Given the description of an element on the screen output the (x, y) to click on. 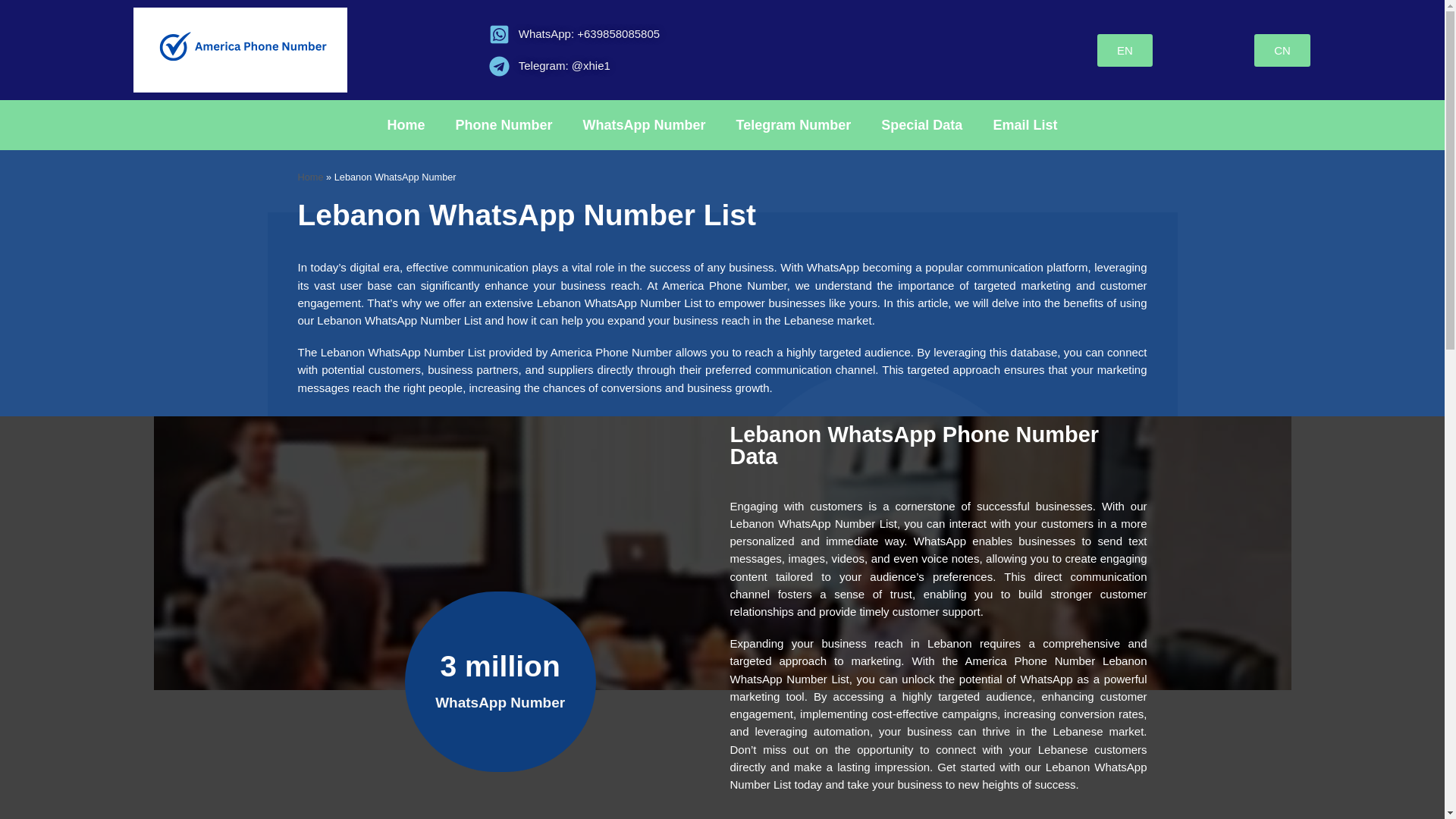
Phone Number (504, 124)
WhatsApp Number (643, 124)
EN (1125, 49)
Email List (1023, 124)
Home (310, 176)
Telegram Number (793, 124)
CN (1281, 49)
Home (406, 124)
Special Data (921, 124)
